Given the description of an element on the screen output the (x, y) to click on. 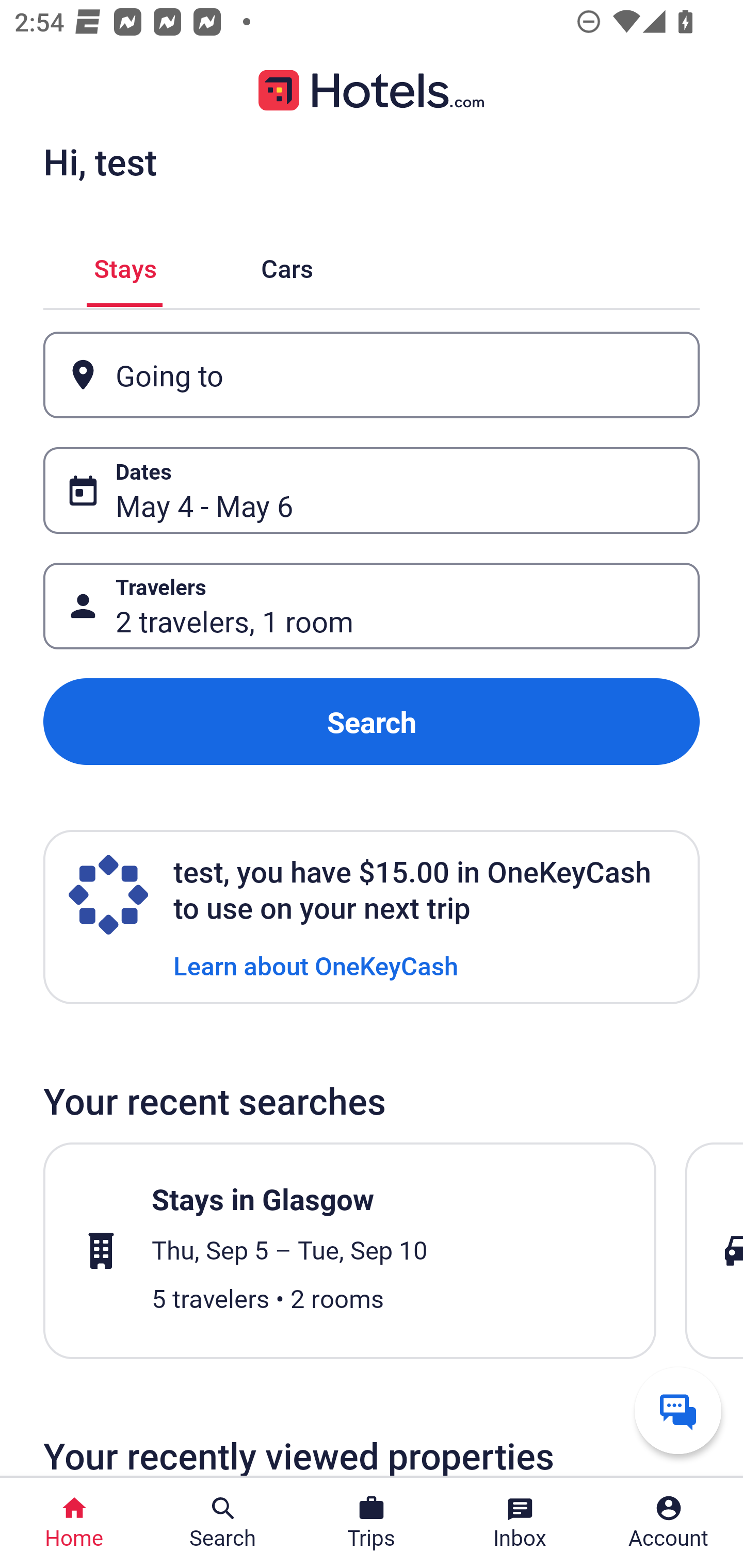
Hi, test (99, 161)
Cars (286, 265)
Going to Button (371, 375)
Dates Button May 4 - May 6 (371, 489)
Travelers Button 2 travelers, 1 room (371, 605)
Search (371, 721)
Learn about OneKeyCash Learn about OneKeyCash Link (315, 964)
Get help from a virtual agent (677, 1410)
Search Search Button (222, 1522)
Trips Trips Button (371, 1522)
Inbox Inbox Button (519, 1522)
Account Profile. Button (668, 1522)
